Given the description of an element on the screen output the (x, y) to click on. 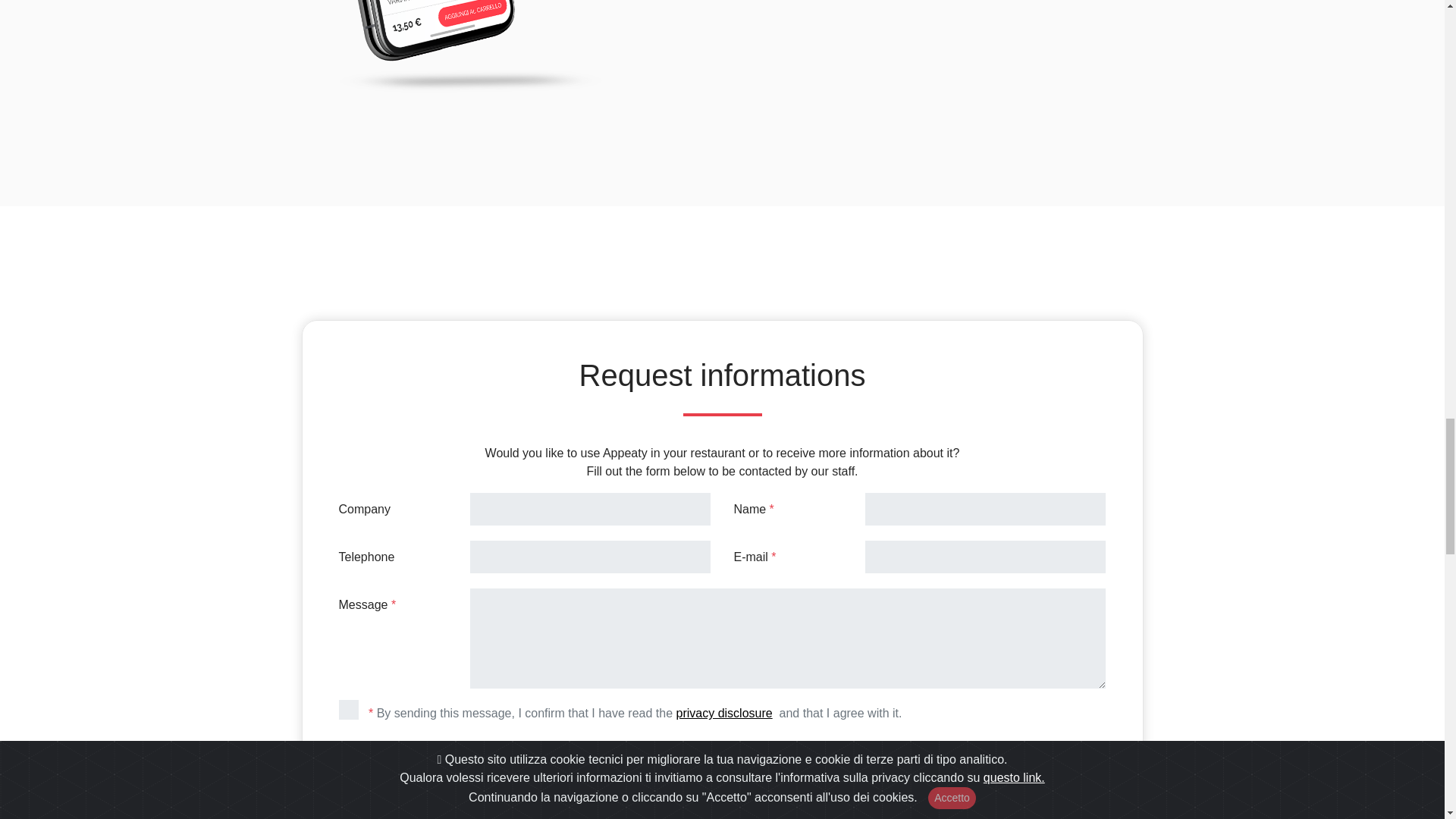
privacy disclosure (725, 712)
SEND (721, 756)
